Given the description of an element on the screen output the (x, y) to click on. 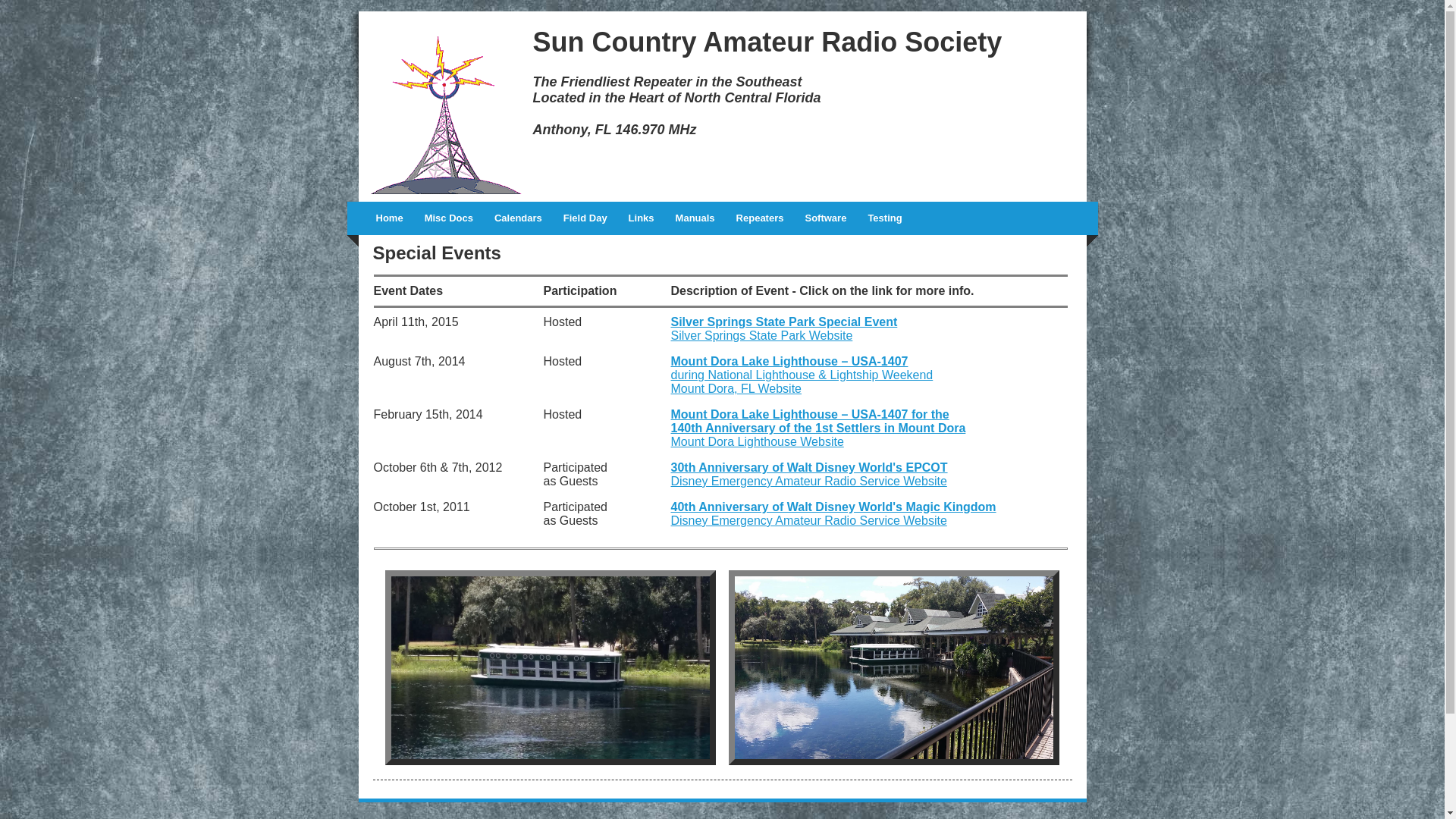
Repeaters Element type: text (759, 217)
Skip to main content Element type: text (54, 11)
Disney Emergency Amateur Radio Service Website Element type: text (808, 480)
30th Anniversary of Walt Disney World's EPCOT Element type: text (808, 467)
during National Lighthouse & Lightship Weekend Element type: text (801, 381)
Links Element type: text (641, 217)
Silver Springs State Park Website Element type: text (761, 335)
Testing Element type: text (884, 217)
Silver Springs State Park Special Event Element type: text (783, 321)
Calendars Element type: text (517, 217)
40th Anniversary of Walt Disney World's Magic Kingdom Element type: text (832, 506)
Software Element type: text (824, 217)
Mount Dora, FL Website Element type: text (735, 388)
Field Day Element type: text (585, 217)
Disney Emergency Amateur Radio Service Website Element type: text (808, 520)
Manuals Element type: text (695, 217)
Home Element type: text (389, 217)
Mount Dora Lighthouse Website Element type: text (756, 441)
Misc Docs Element type: text (448, 217)
Sun Country Amateur Radio Society Element type: text (766, 41)
